Given the description of an element on the screen output the (x, y) to click on. 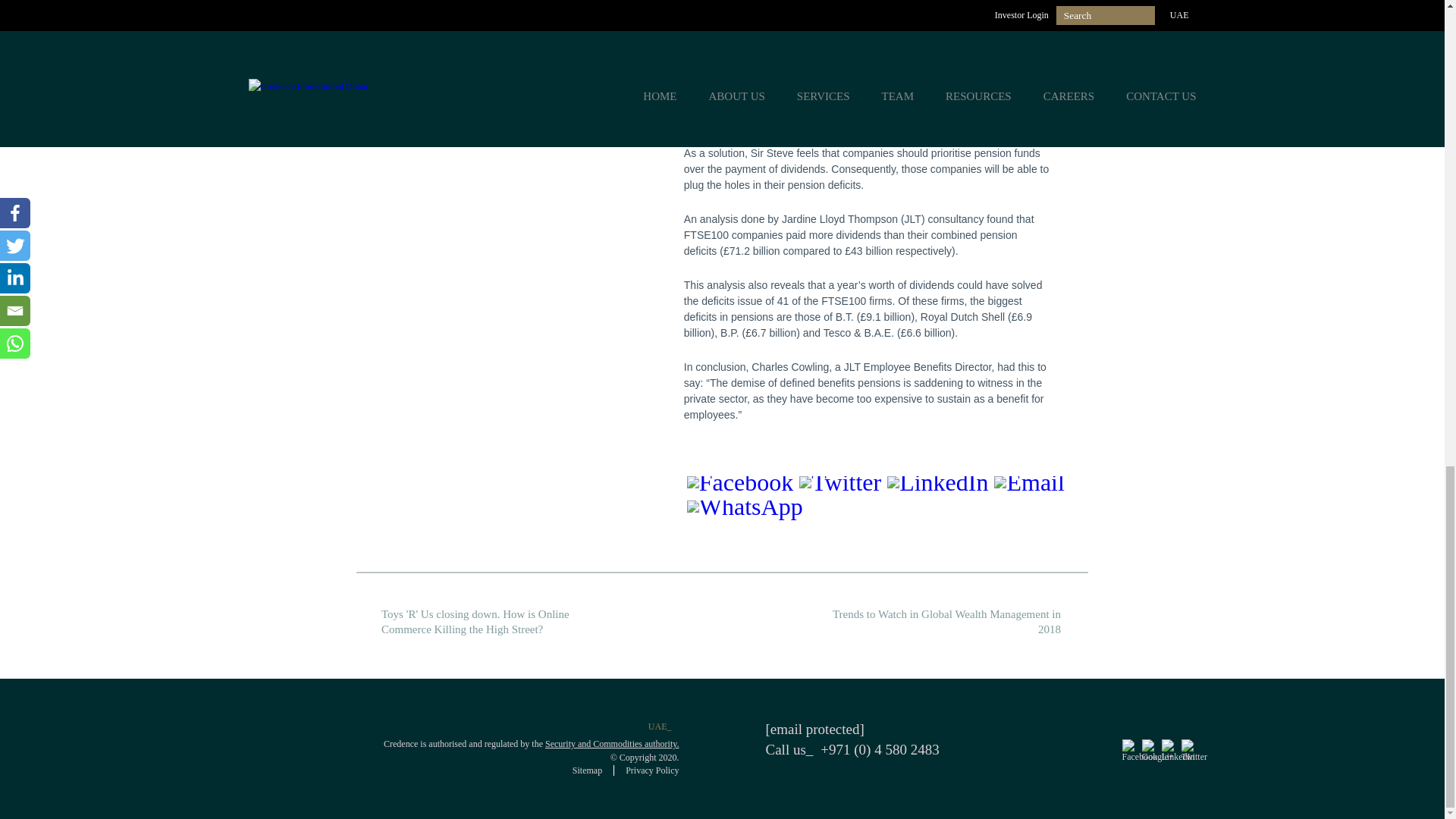
Facebook (740, 487)
Trends to Watch in Global Wealth Management in 2018 (951, 621)
WhatsApp (745, 512)
Twitter (839, 487)
Email (1029, 487)
LinkedIn (937, 487)
